Given the description of an element on the screen output the (x, y) to click on. 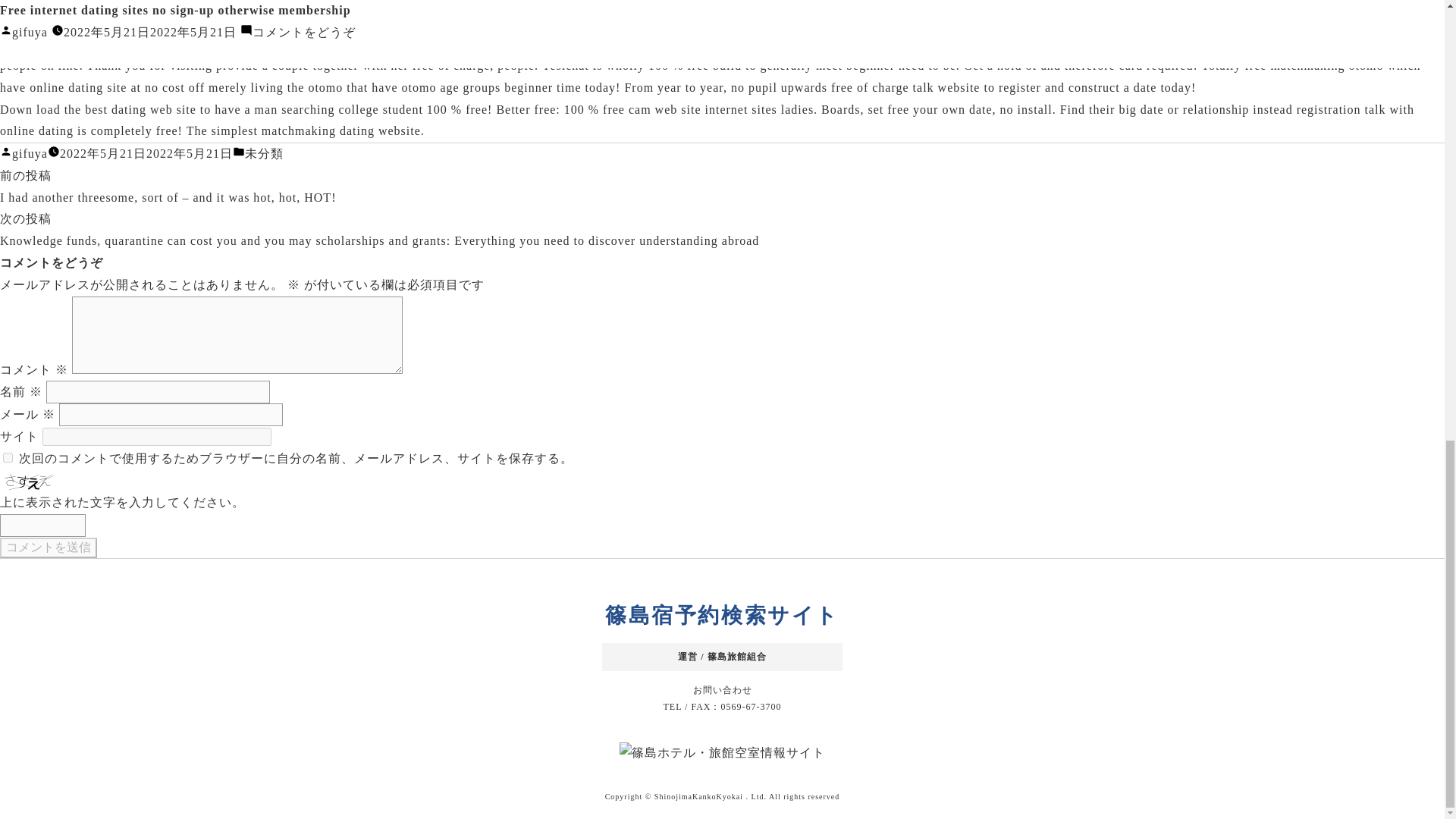
0569-67-3700 (750, 706)
yes (7, 457)
gifuya (29, 153)
